Given the description of an element on the screen output the (x, y) to click on. 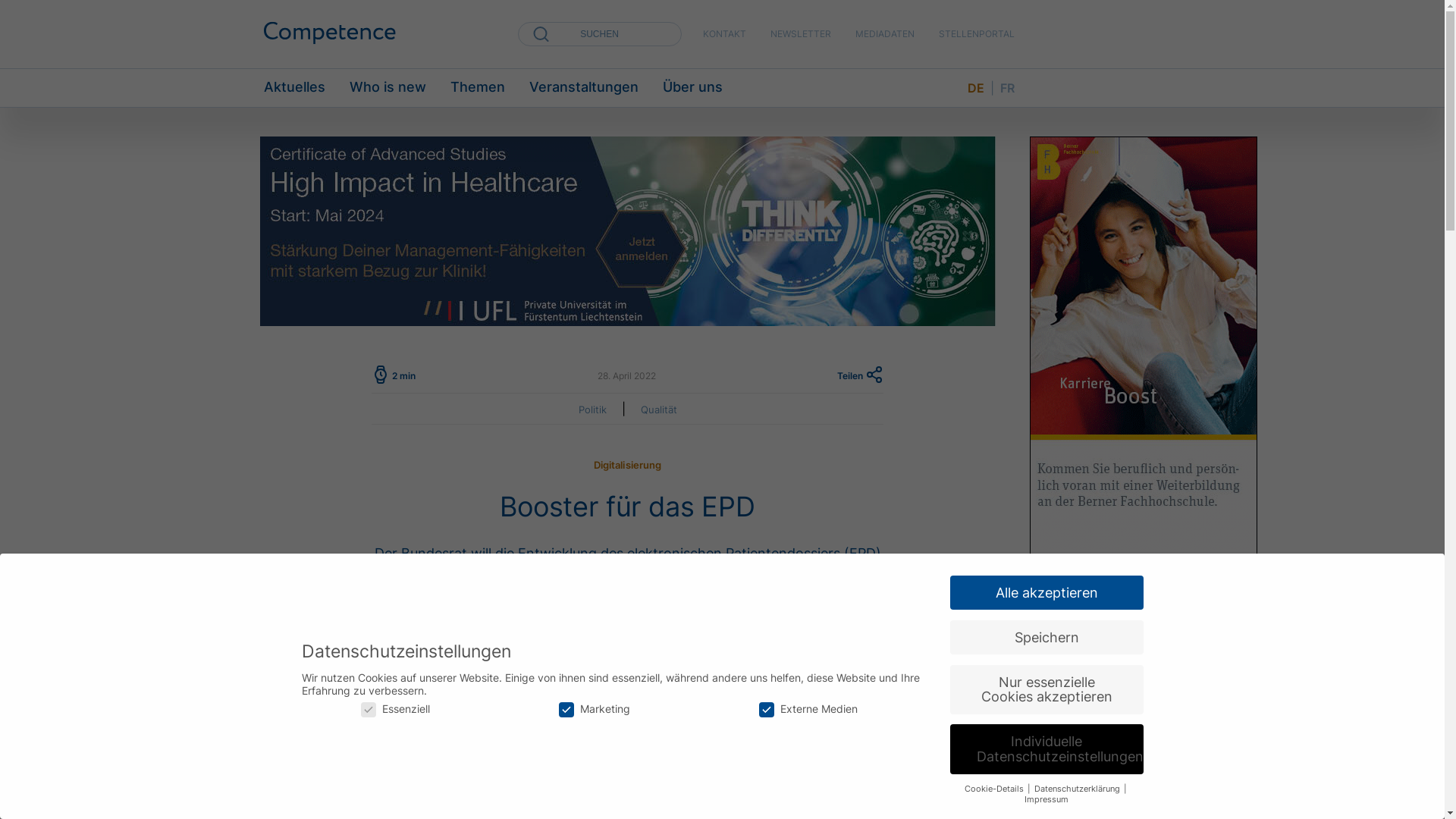
Aktuelles Element type: text (294, 87)
Impressum Element type: text (1046, 799)
3rd party ad content Element type: hover (1143, 363)
Politik Element type: text (591, 409)
Speichern Element type: text (1045, 637)
Cookie-Details Element type: text (995, 788)
STELLENPORTAL Element type: text (976, 33)
Alle akzeptieren Element type: text (1045, 592)
FR Element type: text (1006, 87)
Nur essenzielle Cookies akzeptieren Element type: text (1045, 688)
Themen Element type: text (477, 87)
Individuelle Datenschutzeinstellungen Element type: text (1045, 748)
DE Element type: text (975, 87)
NEWSLETTER Element type: text (800, 33)
KONTAKT Element type: text (723, 33)
3rd party ad content Element type: hover (626, 231)
Who is new Element type: text (386, 87)
Veranstaltungen Element type: text (583, 87)
Suche Element type: text (20, 7)
MEDIADATEN Element type: text (884, 33)
